Given the description of an element on the screen output the (x, y) to click on. 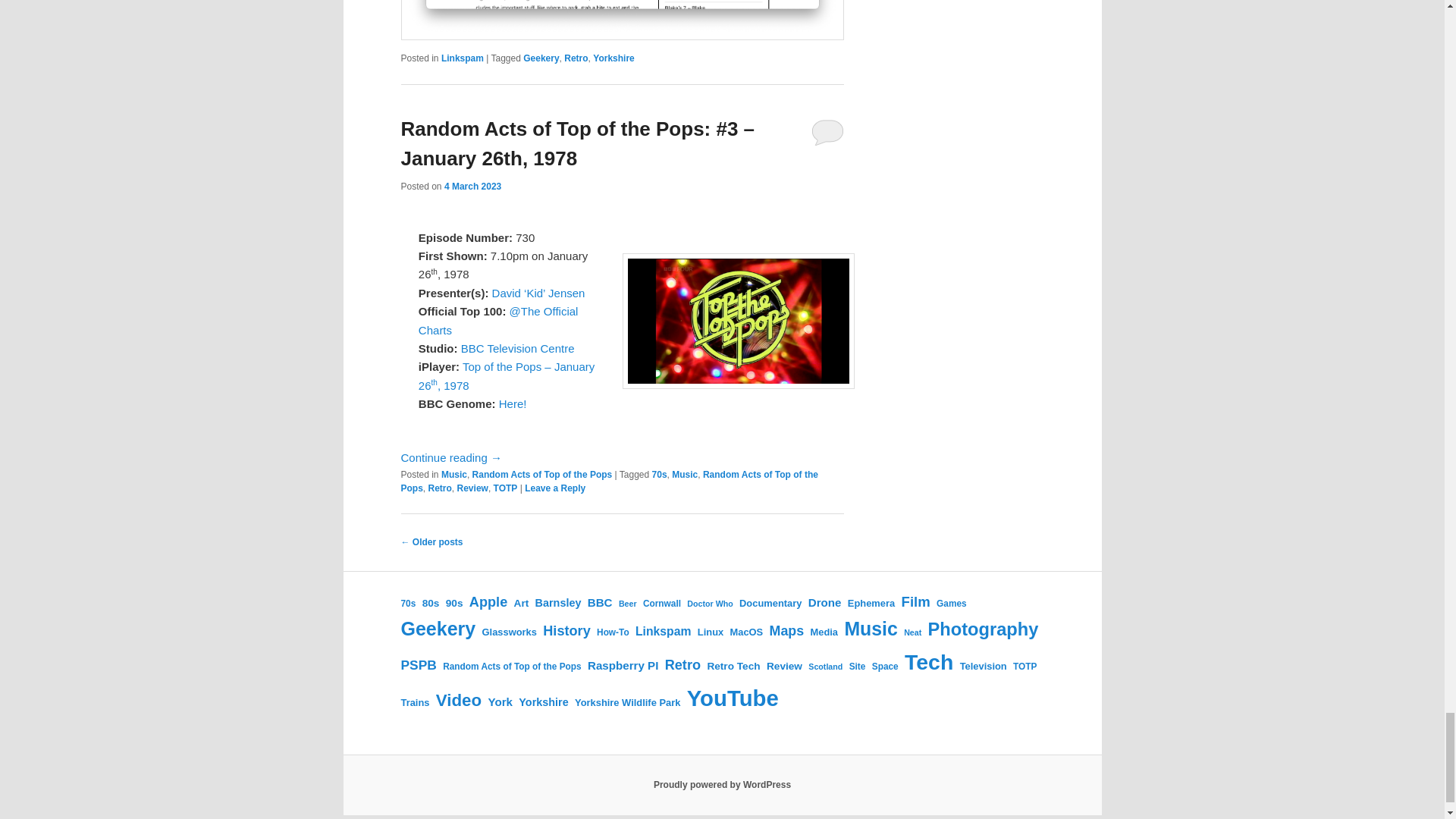
Semantic Personal Publishing Platform (721, 784)
